Given the description of an element on the screen output the (x, y) to click on. 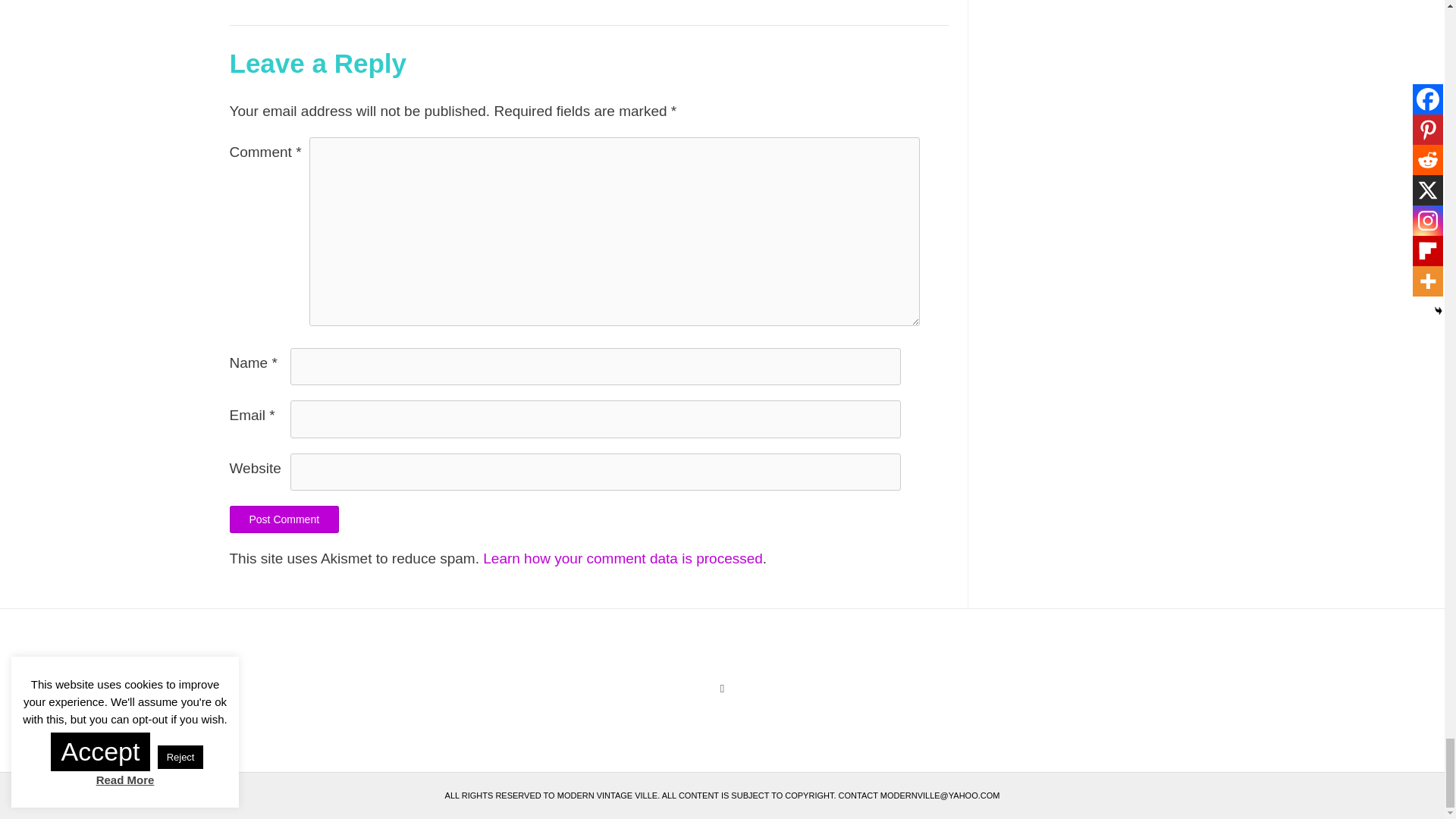
Post Comment (283, 519)
